Given the description of an element on the screen output the (x, y) to click on. 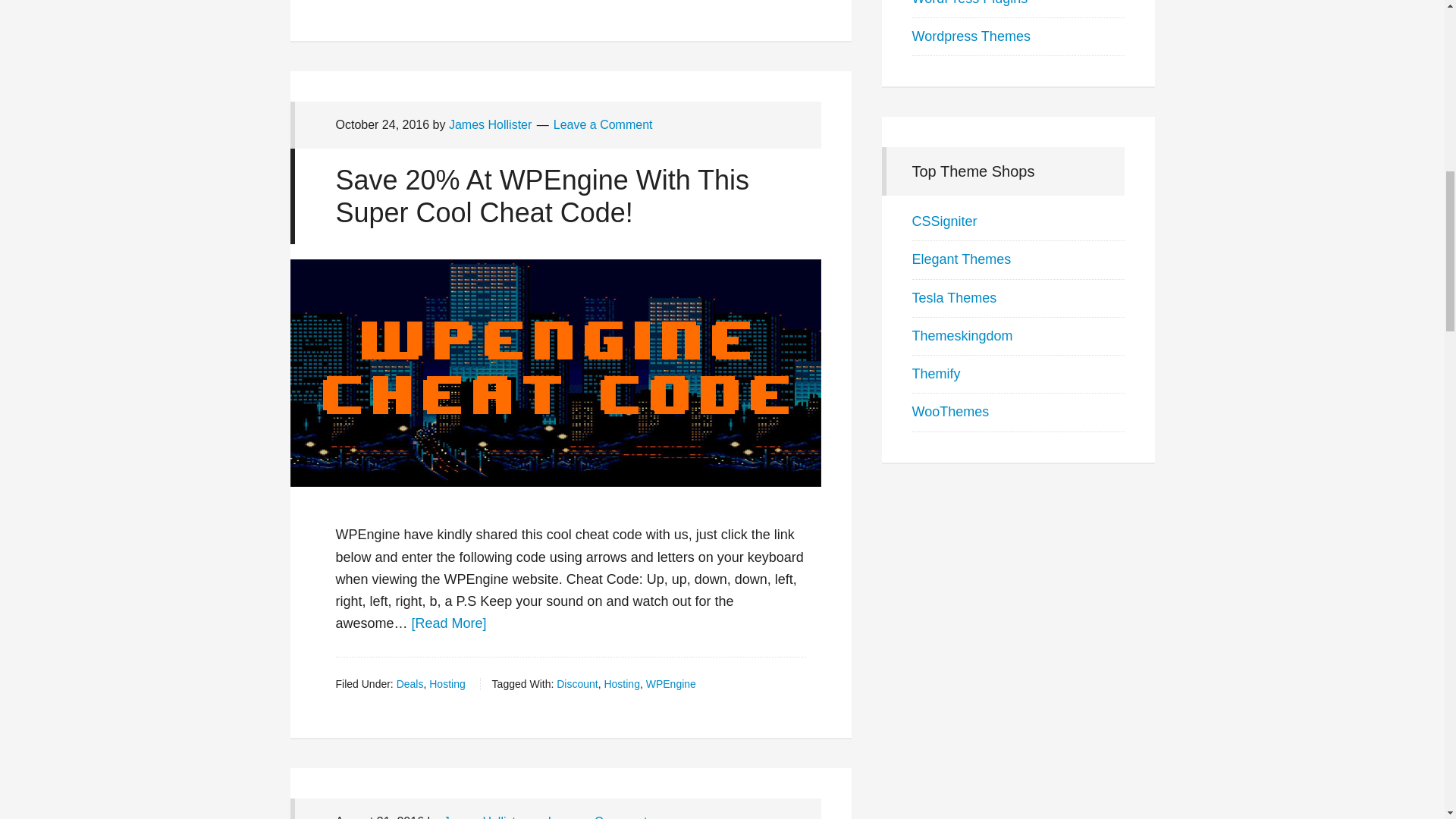
WPEngine (670, 684)
Leave a Comment (597, 816)
James Hollister (489, 124)
Discount (576, 684)
Leave a Comment (602, 124)
James Hollister (484, 816)
Hosting (446, 684)
Deals (409, 684)
CSSIgniter (943, 221)
Hosting (621, 684)
